Given the description of an element on the screen output the (x, y) to click on. 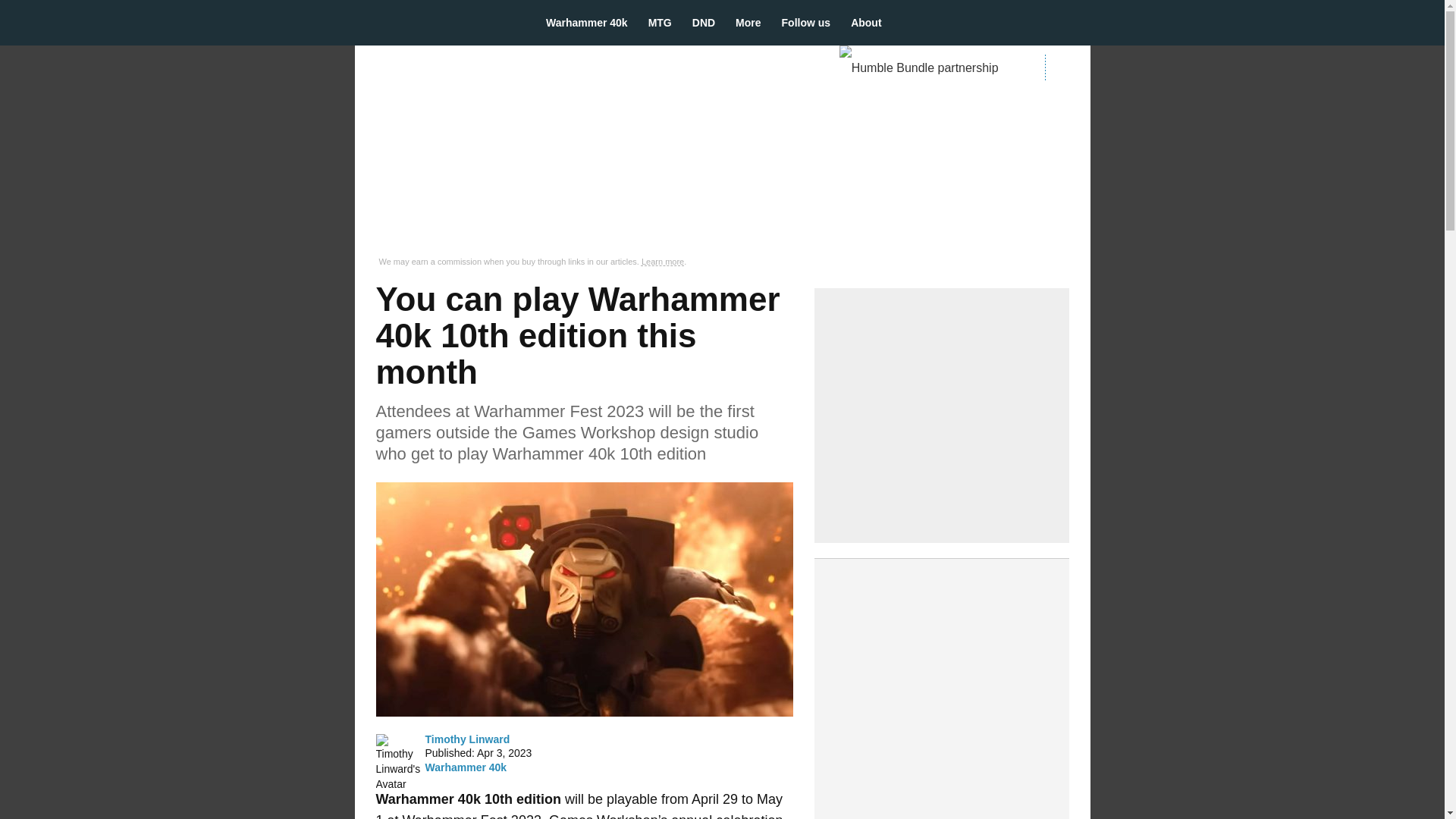
Network N Media (1067, 67)
Learn more (663, 261)
Humble Bundle partnership (925, 67)
Wargamer (437, 22)
You can play Warhammer 40k 10th edition this month (584, 599)
Follow us (810, 22)
Warhammer 40k (465, 767)
Warhammer 40k (591, 22)
Timothy Linward (467, 739)
